Given the description of an element on the screen output the (x, y) to click on. 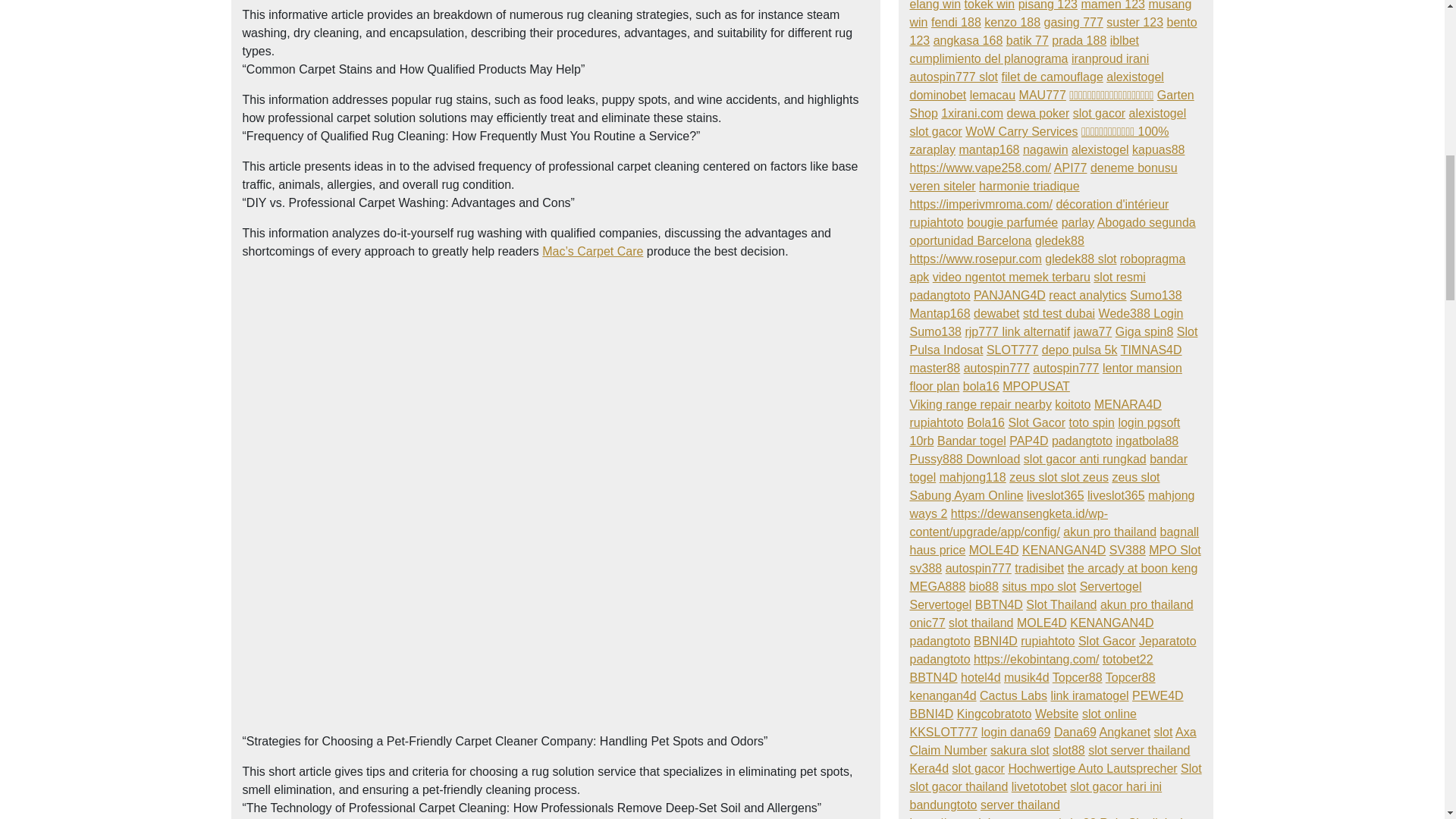
tokek win (988, 5)
gasing 777 (1073, 21)
kenzo 188 (1012, 21)
pisang 123 (1047, 5)
fendi 188 (956, 21)
elang win (935, 5)
musang win (1051, 14)
mamen 123 (1112, 5)
